Given the description of an element on the screen output the (x, y) to click on. 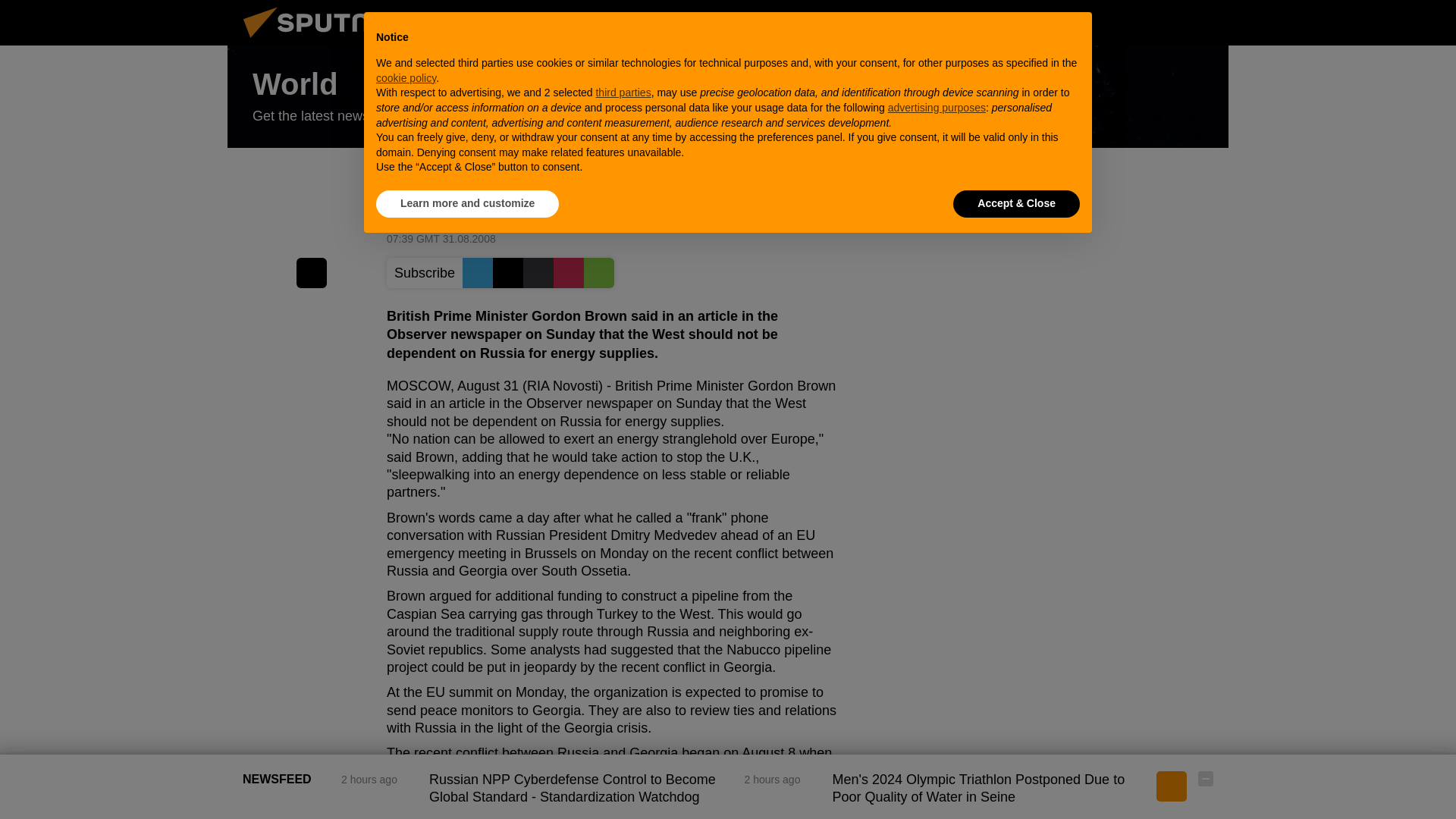
World (727, 96)
Sputnik International (325, 41)
Authorization (1129, 22)
Chats (1206, 22)
